Given the description of an element on the screen output the (x, y) to click on. 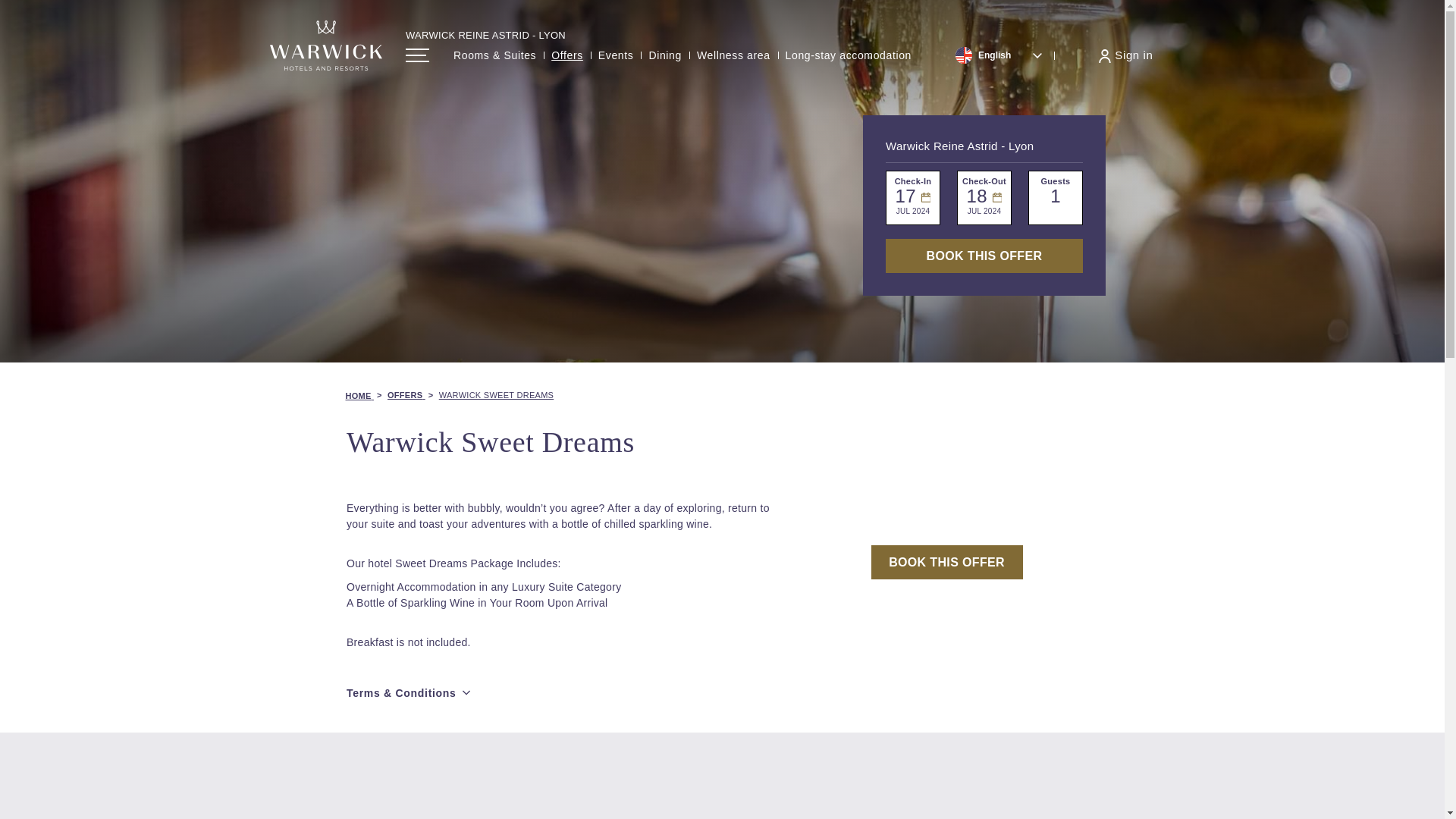
Long-stay accomodation (848, 55)
Events (615, 55)
WARWICK REINE ASTRID - LYON (486, 34)
Offers (567, 55)
Dining (664, 55)
Wellness area (733, 55)
Sign in (1125, 54)
English (999, 54)
